Given the description of an element on the screen output the (x, y) to click on. 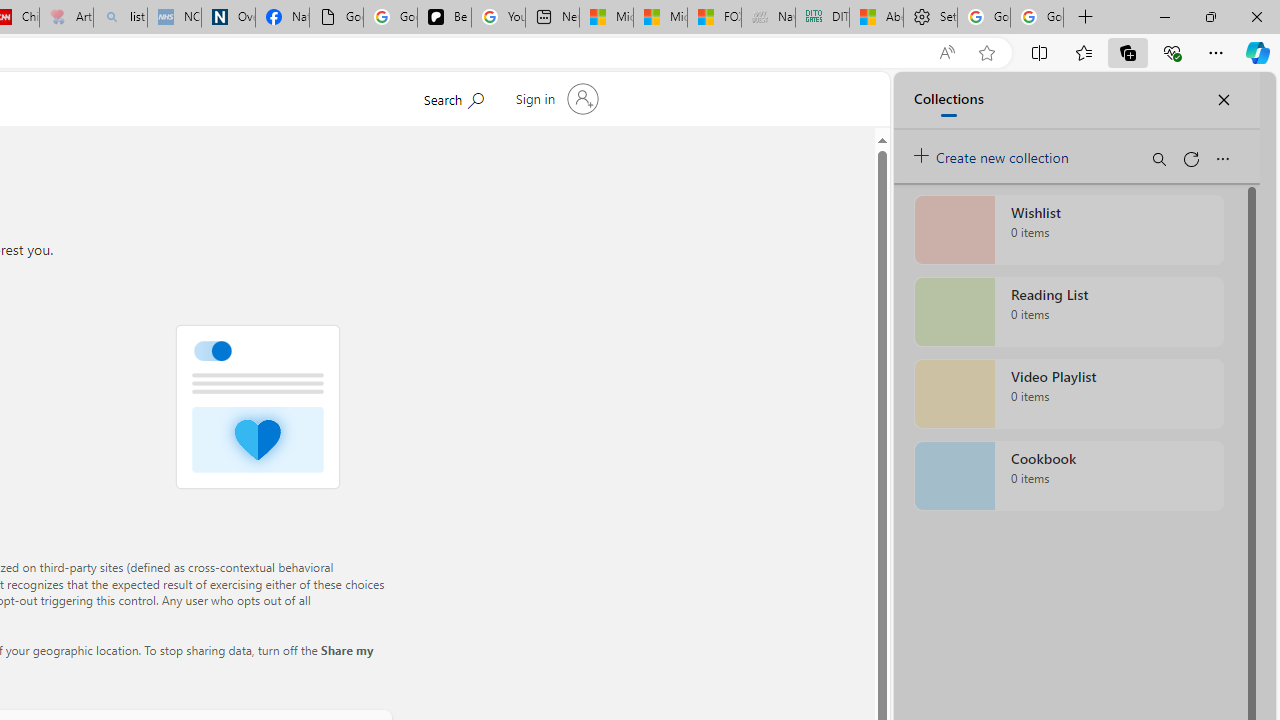
Google Analytics Opt-out Browser Add-on Download Page (336, 17)
FOX News - MSN (714, 17)
Arthritis: Ask Health Professionals - Sleeping (66, 17)
Be Smart | creating Science videos | Patreon (444, 17)
Navy Quest (768, 17)
Sign in to your account (554, 98)
